Given the description of an element on the screen output the (x, y) to click on. 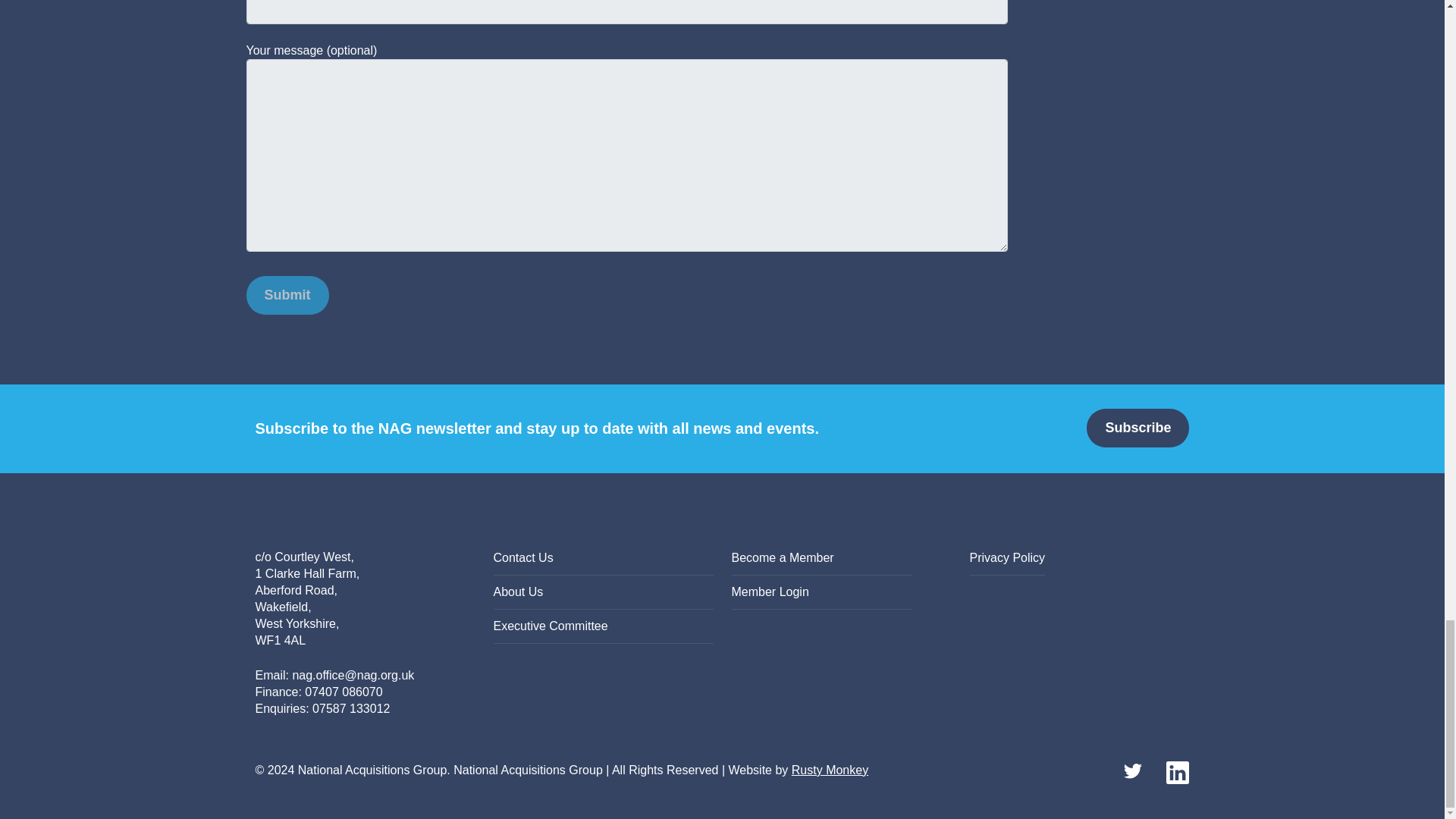
Submit (287, 295)
linkedin logo (1177, 771)
twitter logo (1135, 771)
